Given the description of an element on the screen output the (x, y) to click on. 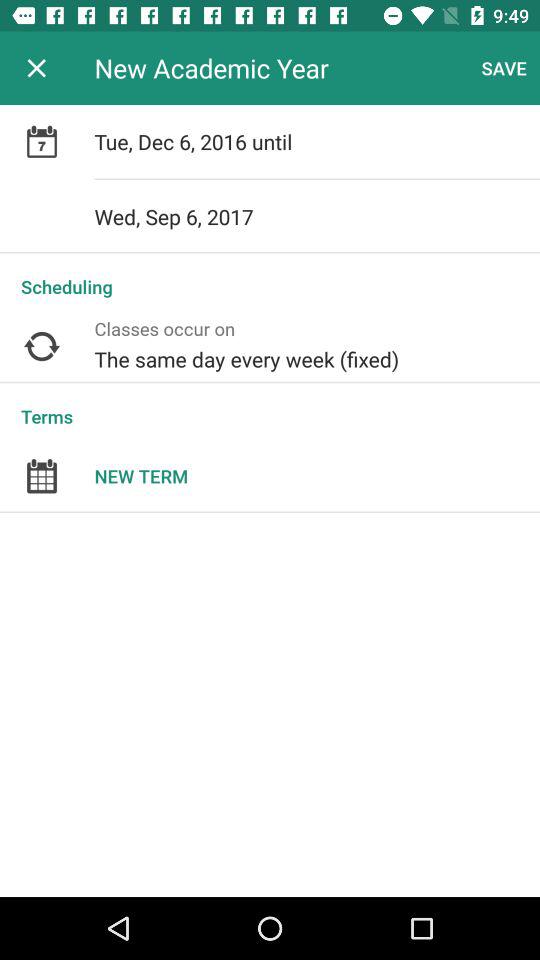
choose the icon below save item (317, 141)
